Given the description of an element on the screen output the (x, y) to click on. 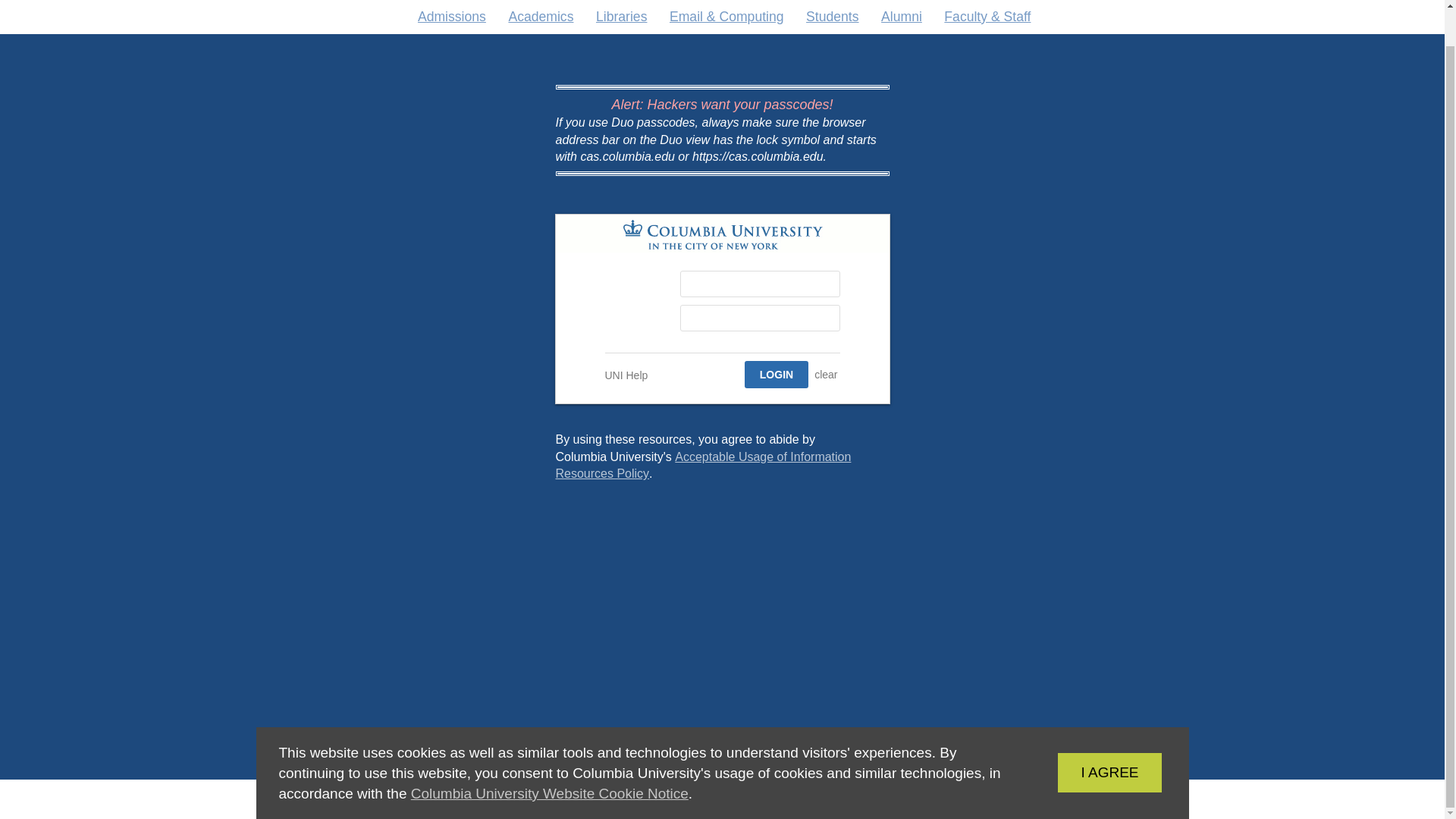
LOGIN (776, 374)
UNI Help (626, 375)
Columbia University Website Cookie Notice (1086, 734)
CLEAR (549, 755)
Acceptable Usage of Information Resources Policy (826, 374)
LOGIN (702, 464)
CUIT Service Desk (776, 374)
